Given the description of an element on the screen output the (x, y) to click on. 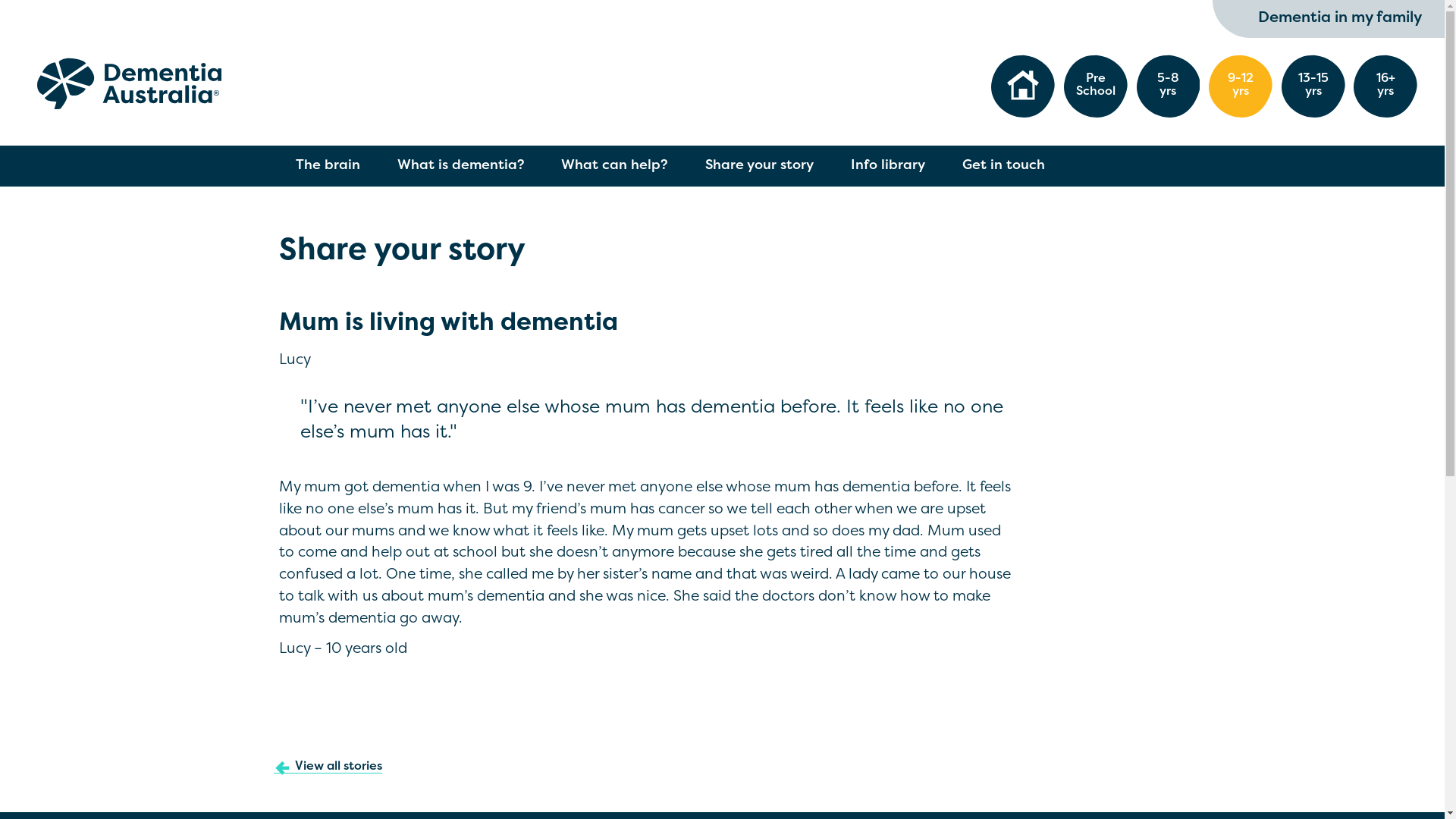
16+
yrs Element type: text (1385, 86)
View all stories Element type: text (327, 766)
13-15
yrs Element type: text (1313, 86)
home Element type: text (1022, 86)
What is dementia? Element type: text (460, 165)
Info library Element type: text (888, 165)
Get in touch Element type: text (1002, 165)
Share your story Element type: text (759, 165)
9-12
yrs Element type: text (1240, 86)
Pre
School Element type: text (1095, 86)
5-8
yrs Element type: text (1168, 86)
What can help? Element type: text (614, 165)
The brain Element type: text (328, 165)
